Given the description of an element on the screen output the (x, y) to click on. 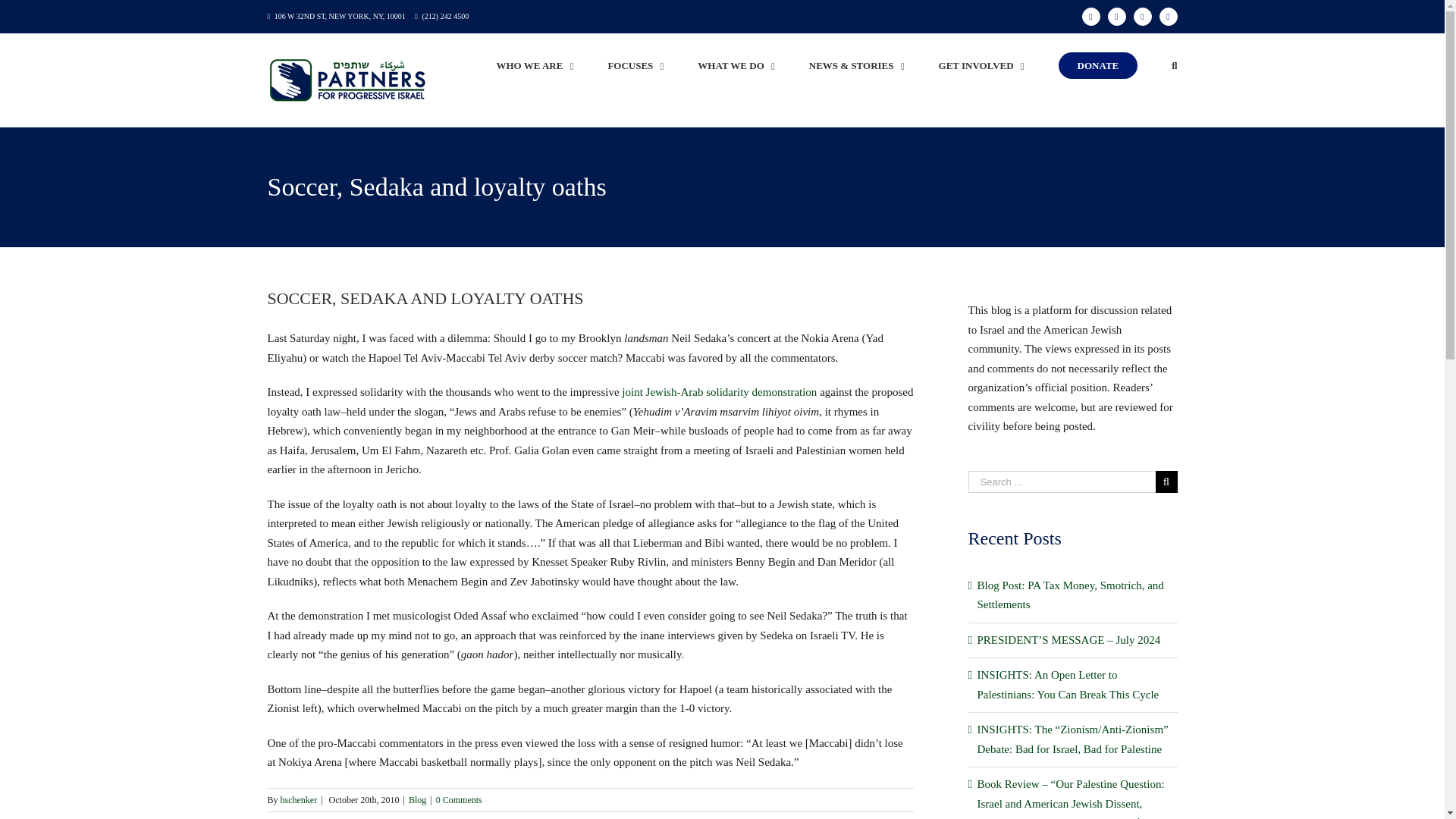
Linkedin (1167, 16)
Posts by hschenker (299, 799)
Facebook (1090, 16)
WHO WE ARE (534, 65)
GET INVOLVED (982, 65)
Twitter (1116, 16)
FOCUSES (635, 65)
Instagram (1142, 16)
DONATE (1098, 65)
Twitter (1116, 16)
WHAT WE DO (735, 65)
Facebook (1090, 16)
Instagram (1142, 16)
Linkedin (1167, 16)
